Given the description of an element on the screen output the (x, y) to click on. 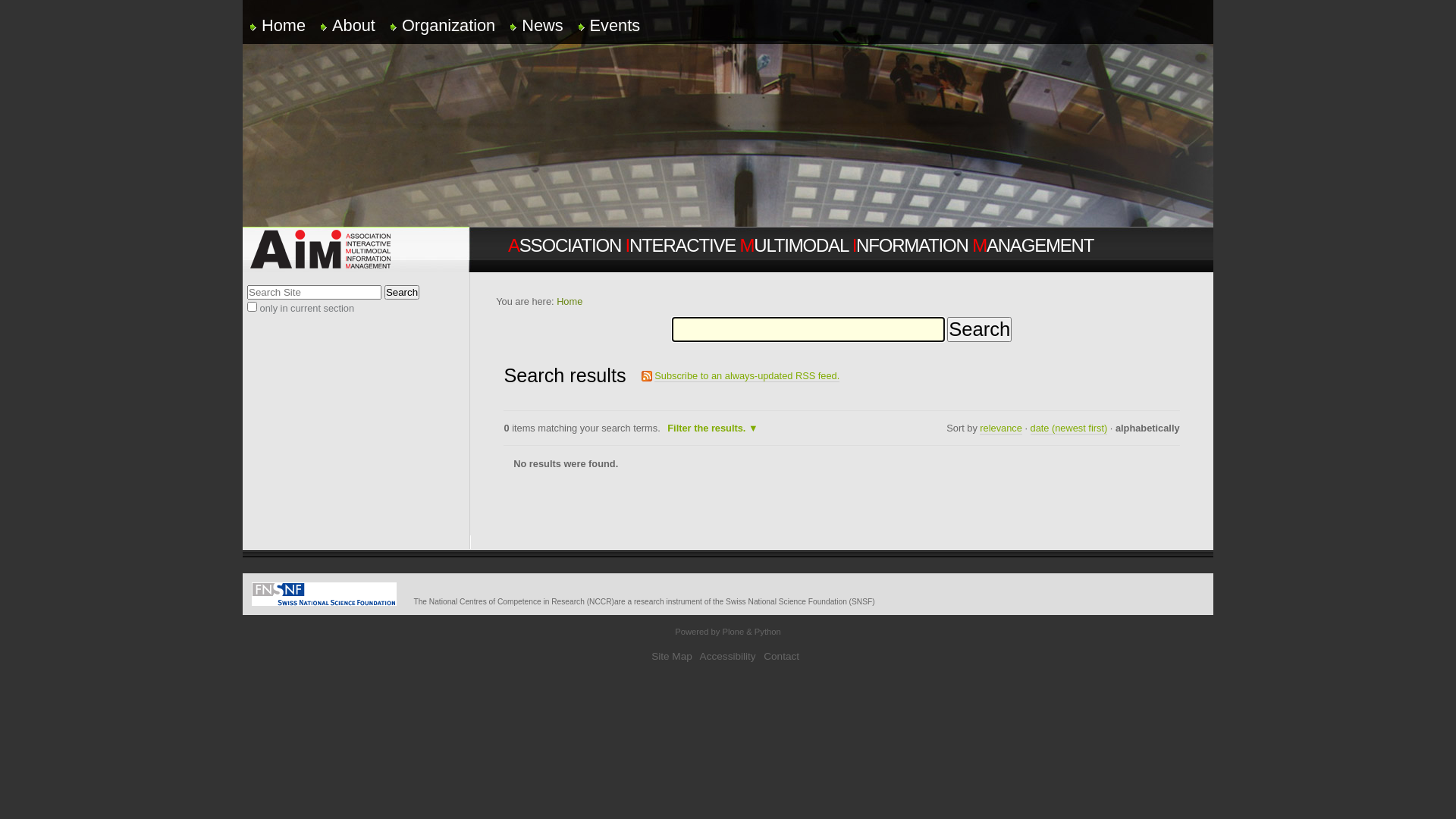
Powered by Plone & Python Element type: text (727, 631)
date (newest first) Element type: text (1068, 428)
About Element type: text (355, 18)
Accessibility Element type: text (727, 656)
Search Element type: text (979, 329)
Search Element type: text (401, 292)
relevance Element type: text (1000, 428)
News Element type: text (543, 18)
Site Map Element type: text (671, 656)
Home Element type: text (569, 301)
Filter the results. Element type: text (712, 427)
Subscribe to an always-updated RSS feed. Element type: text (746, 376)
Search Site Element type: hover (314, 292)
Events Element type: text (616, 18)
Home Element type: text (285, 18)
Search Site Element type: hover (807, 329)
Contact Element type: text (781, 656)
Organization Element type: text (450, 18)
